Given the description of an element on the screen output the (x, y) to click on. 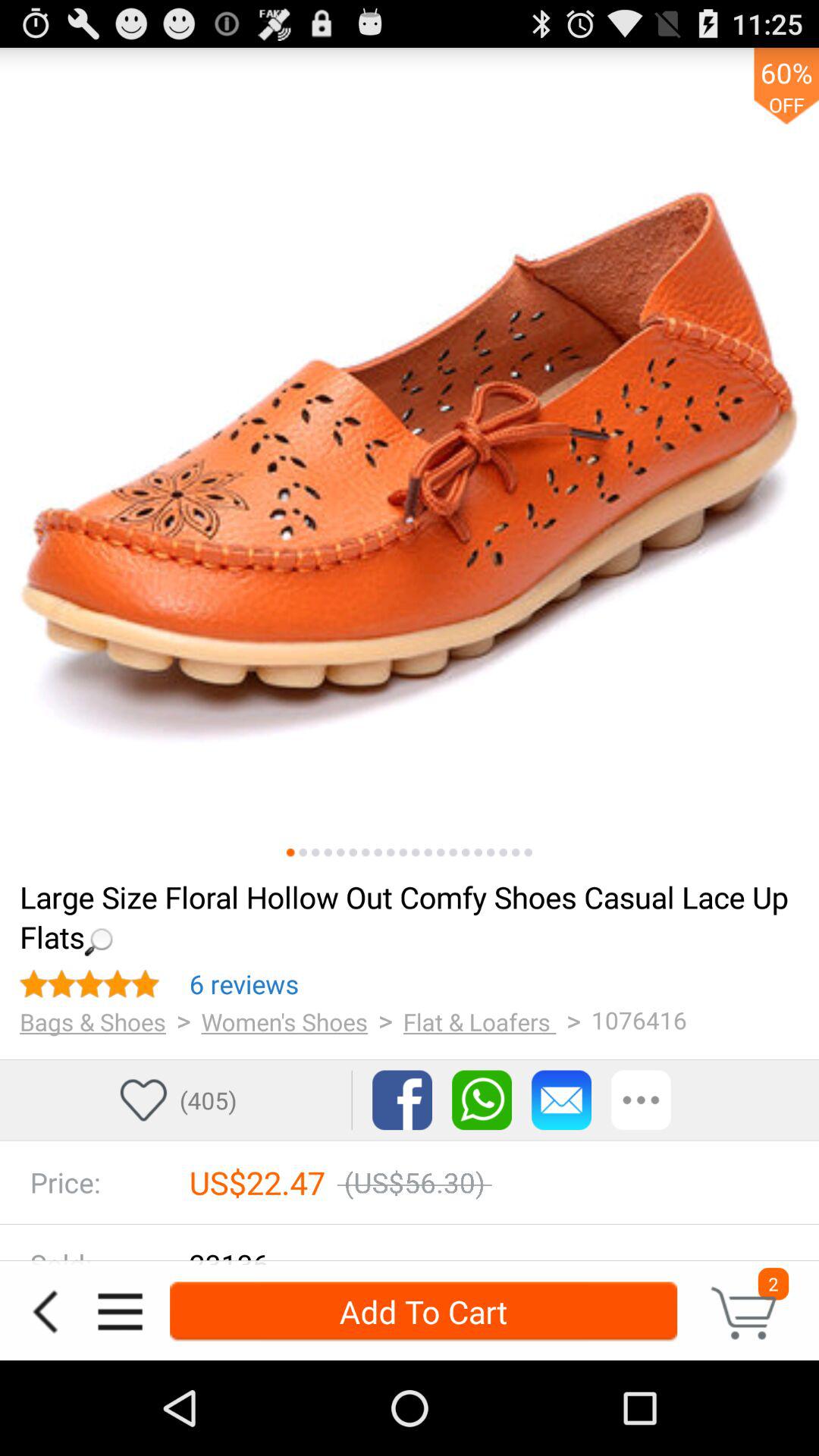
go to options (120, 1311)
